Given the description of an element on the screen output the (x, y) to click on. 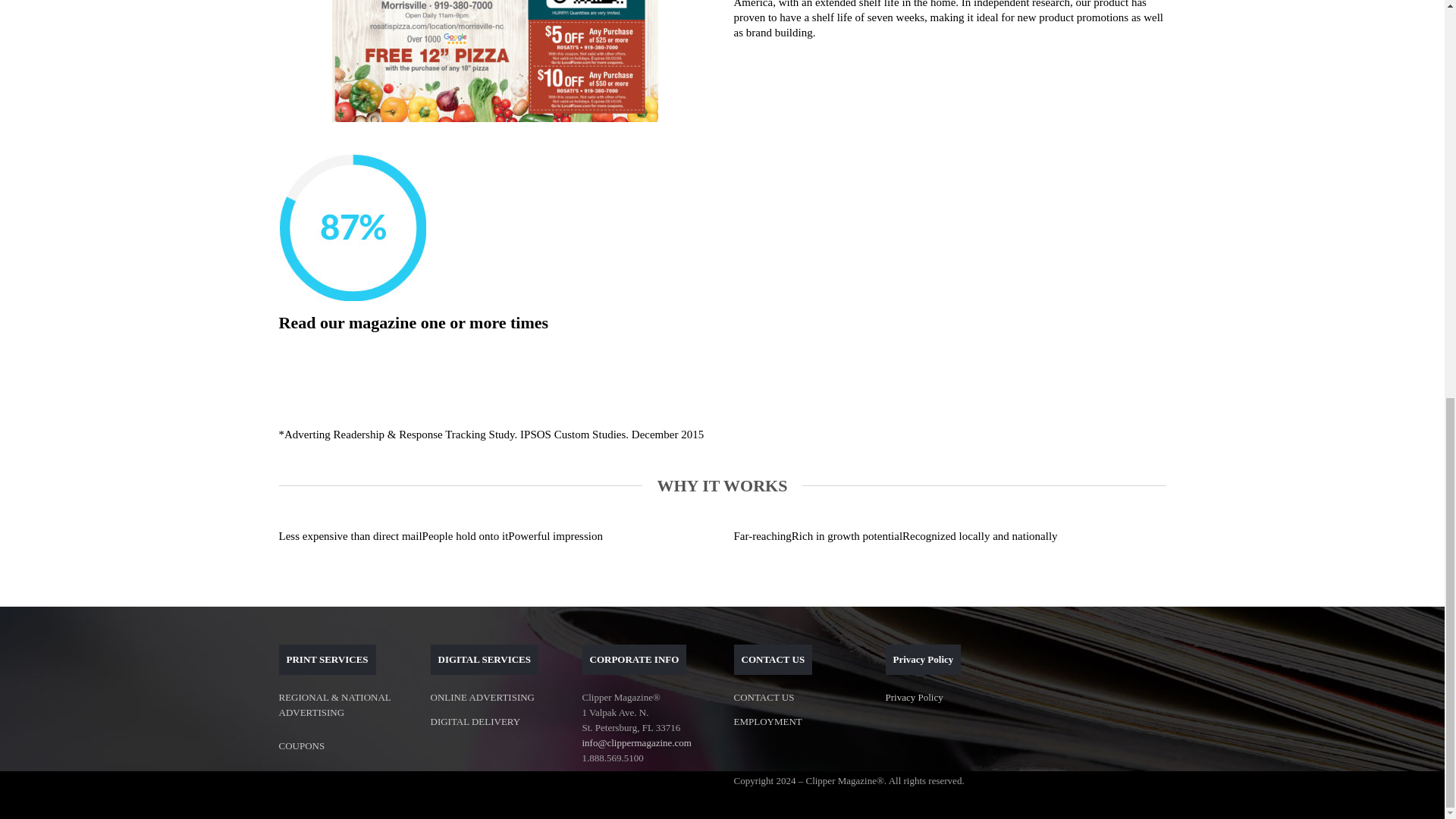
FrontCoverMockup.10 (494, 61)
